Given the description of an element on the screen output the (x, y) to click on. 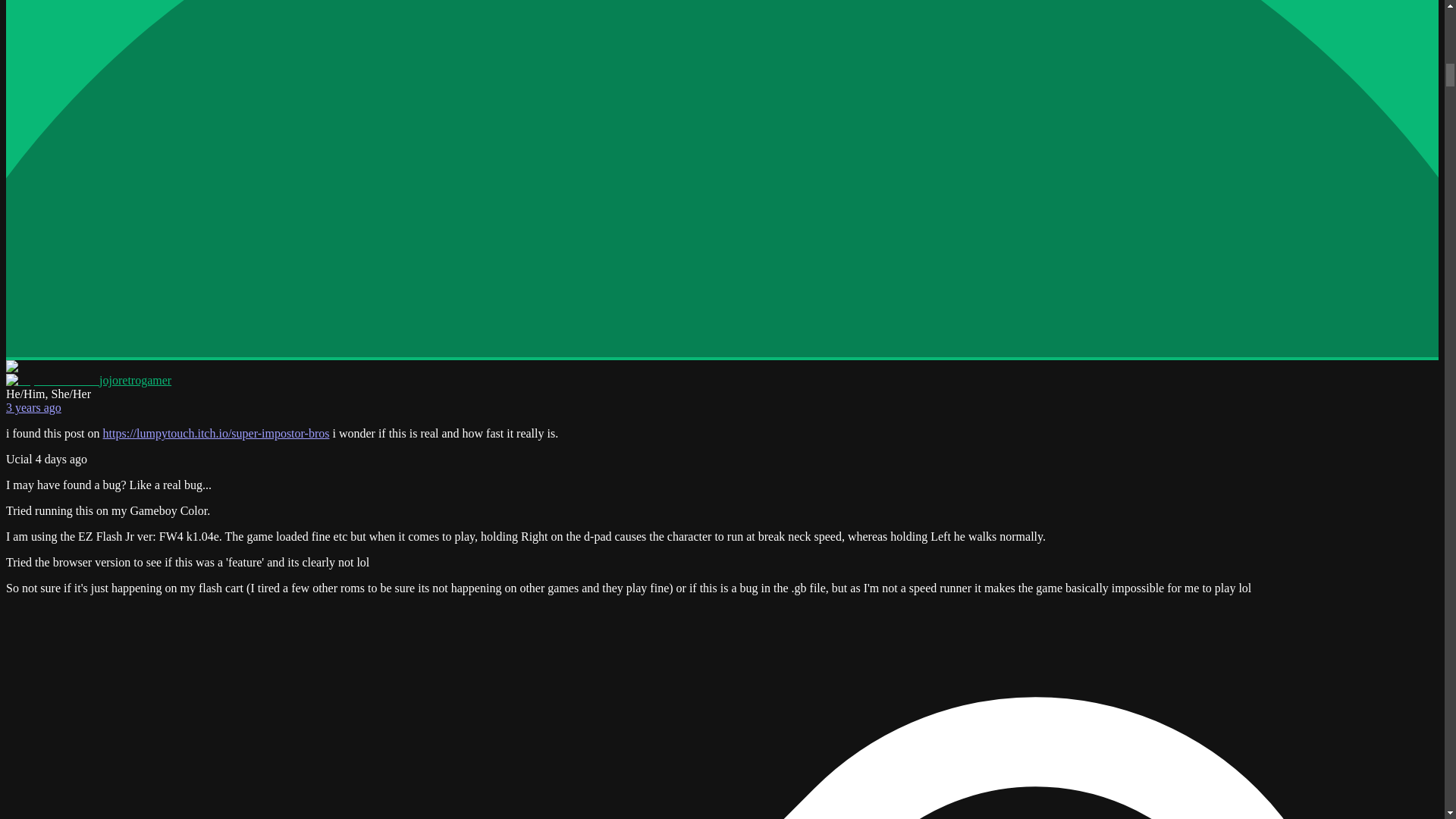
3 years ago (33, 407)
jojoretrogamer (88, 379)
